Given the description of an element on the screen output the (x, y) to click on. 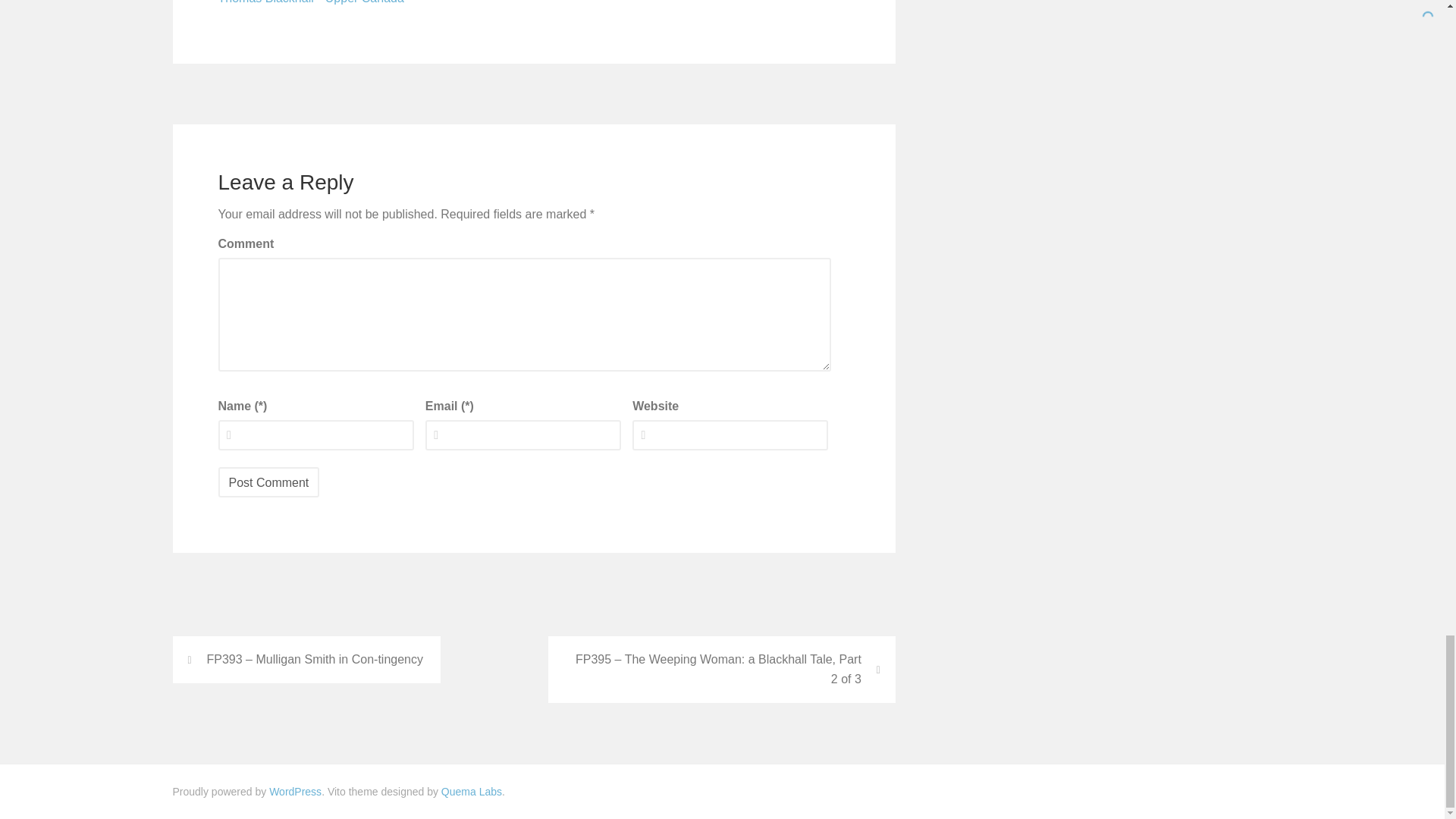
Post Comment (269, 481)
Upper Canada (364, 4)
Thomas Blackhall (266, 4)
Post Comment (269, 481)
